Given the description of an element on the screen output the (x, y) to click on. 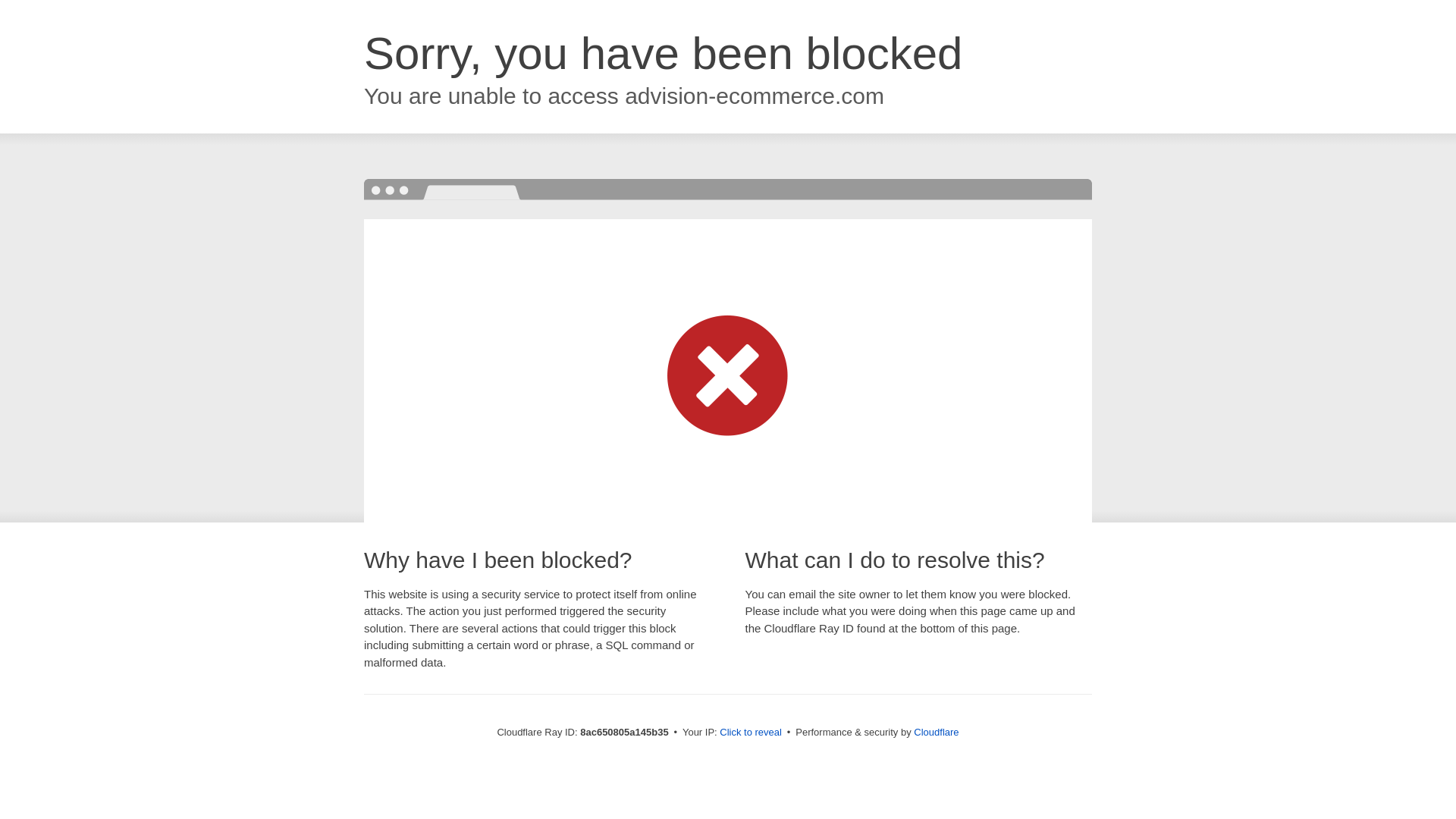
Cloudflare (936, 731)
Click to reveal (751, 732)
